Given the description of an element on the screen output the (x, y) to click on. 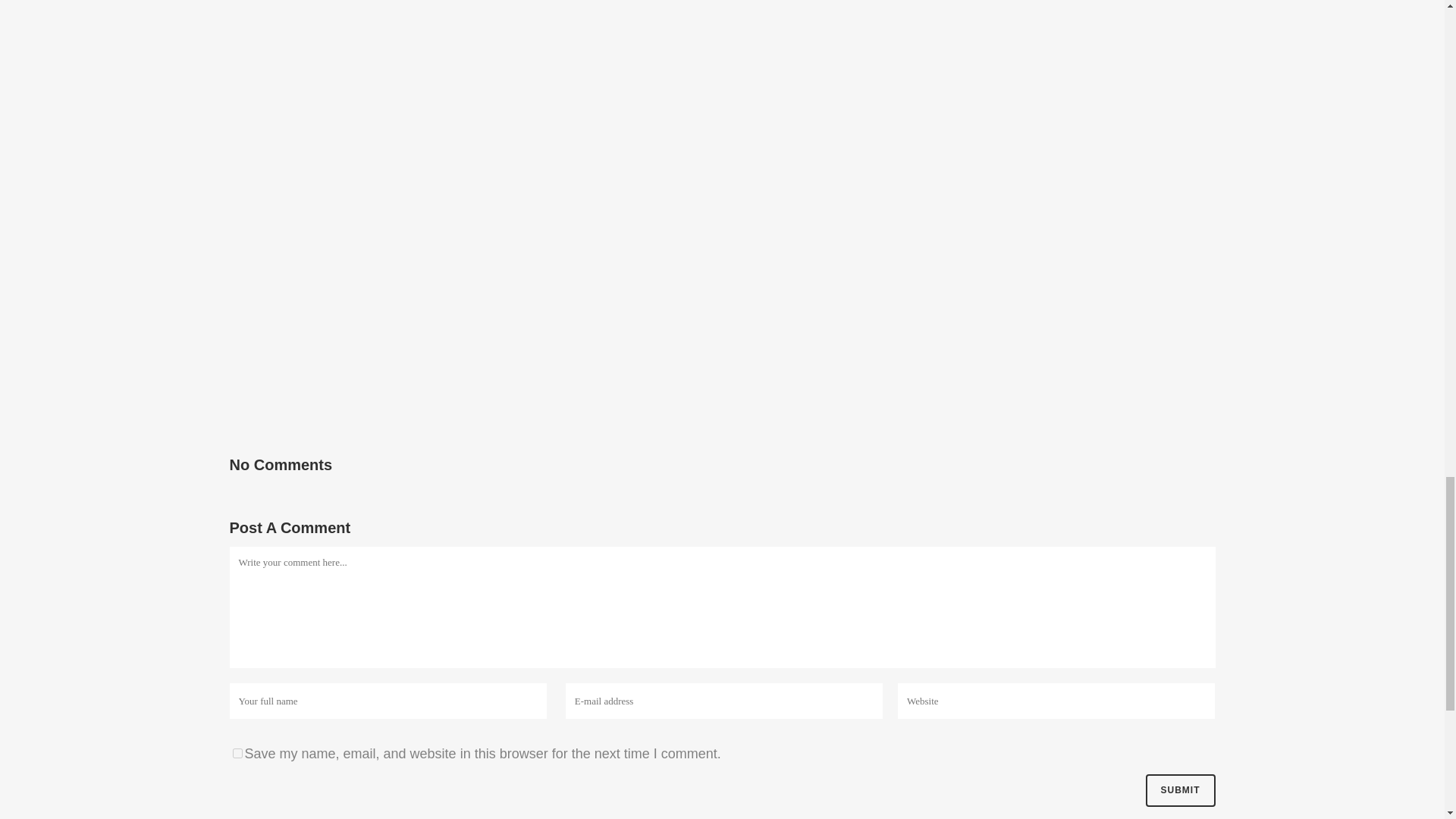
Submit (1179, 789)
Submit (1179, 789)
yes (236, 753)
